Given the description of an element on the screen output the (x, y) to click on. 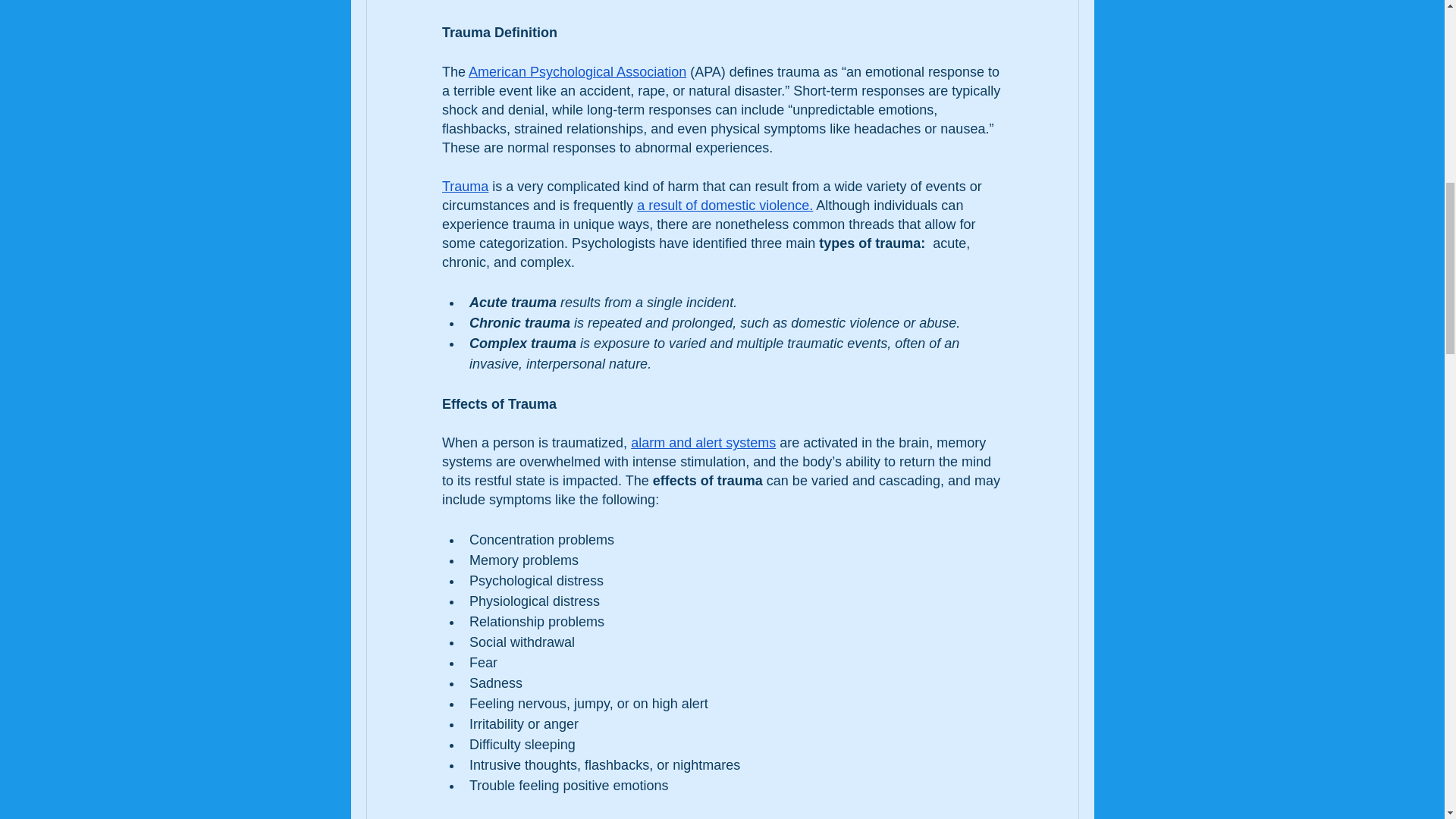
a result of domestic violence. (724, 205)
American Psychological Association (576, 71)
Trauma (464, 186)
alarm and alert systems (703, 442)
